Given the description of an element on the screen output the (x, y) to click on. 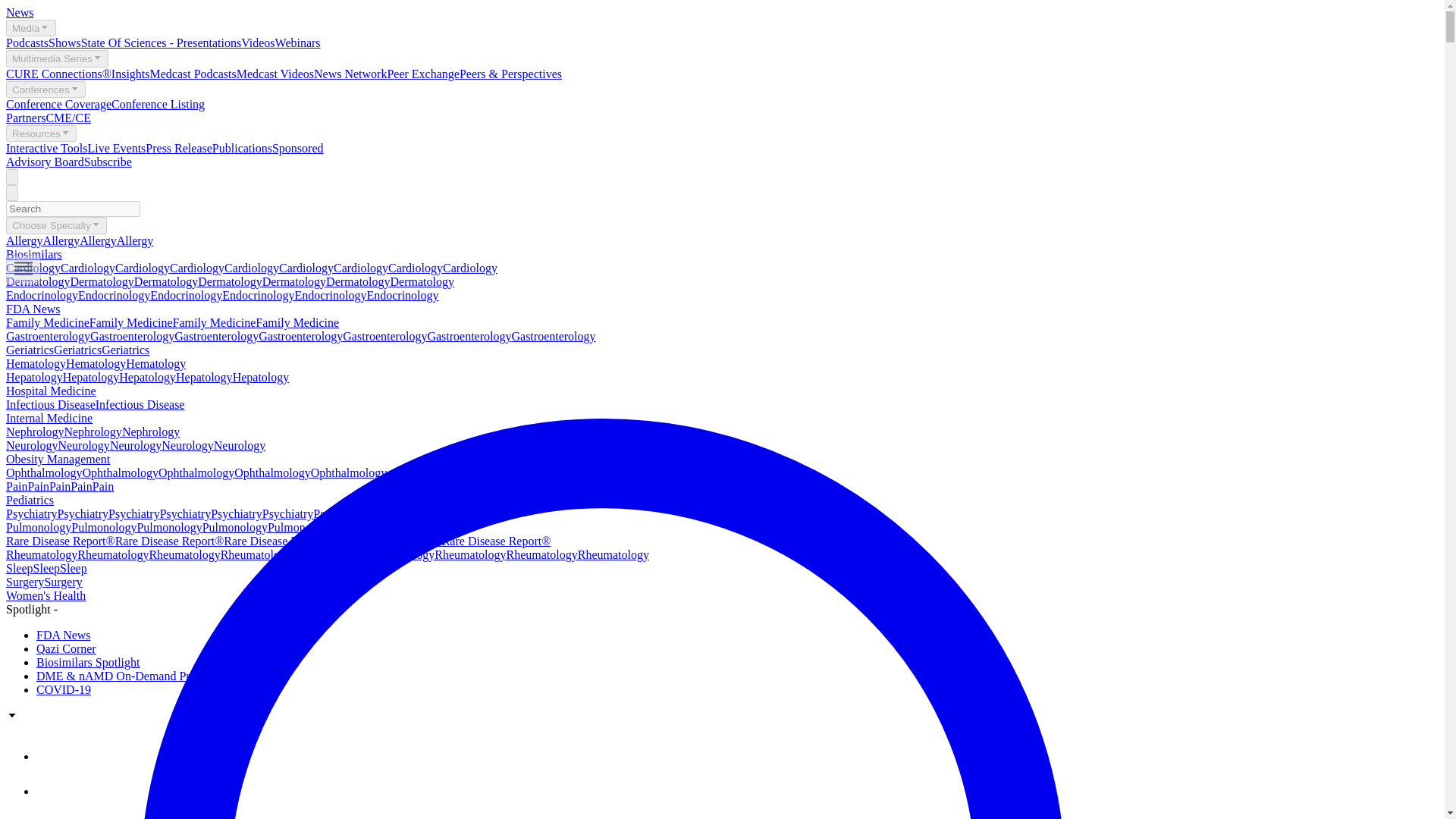
Allergy (135, 240)
Biosimilars (33, 254)
Allergy (24, 240)
Videos (258, 42)
News (19, 11)
Media (30, 27)
Press Release (178, 147)
Conference Listing (158, 103)
Resources (41, 133)
Allergy (61, 240)
